Given the description of an element on the screen output the (x, y) to click on. 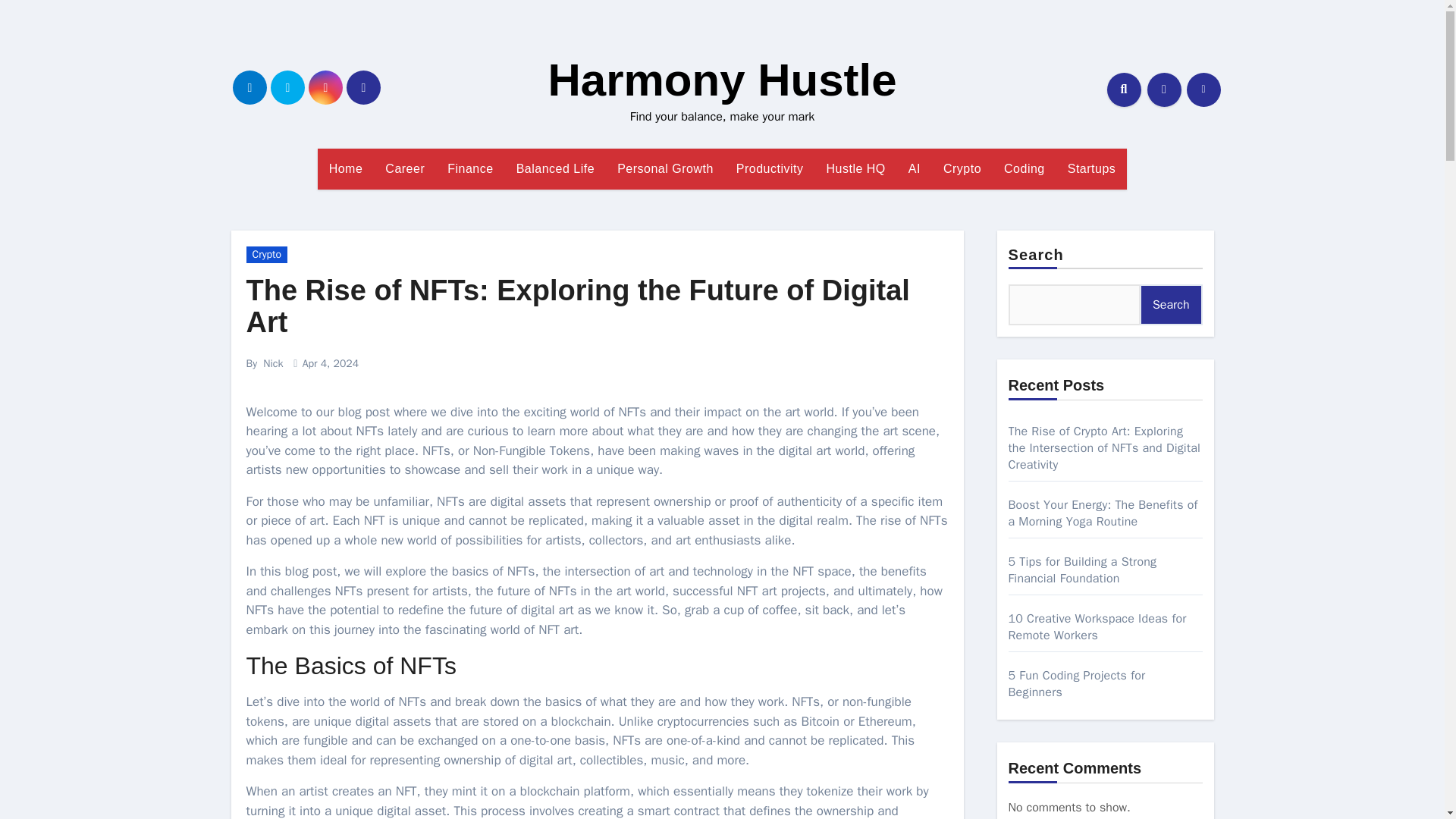
Personal Growth (665, 168)
Startups (1091, 168)
Hustle HQ (854, 168)
Career (404, 168)
Crypto (961, 168)
Nick (272, 363)
Home (345, 168)
Startups (1091, 168)
Finance (469, 168)
Productivity (770, 168)
Career (404, 168)
Crypto (266, 254)
Finance (469, 168)
The Rise of NFTs: Exploring the Future of Digital Art (577, 306)
